Given the description of an element on the screen output the (x, y) to click on. 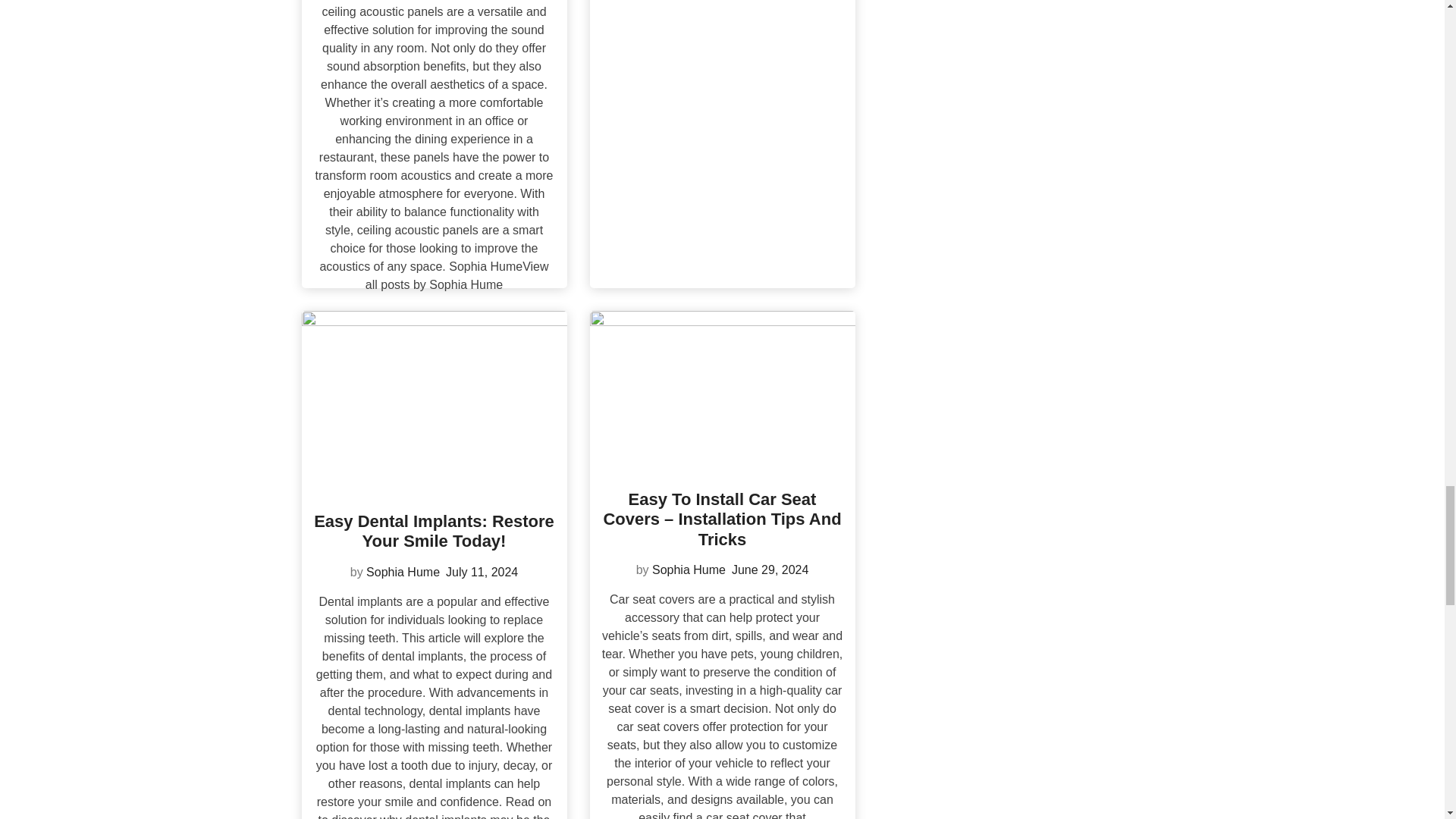
Read More (433, 327)
July 11, 2024 (481, 571)
Sophia Hume (402, 571)
June 29, 2024 (770, 569)
Easy Dental Implants: Restore Your Smile Today! (434, 530)
Sophia Hume (688, 569)
